Given the description of an element on the screen output the (x, y) to click on. 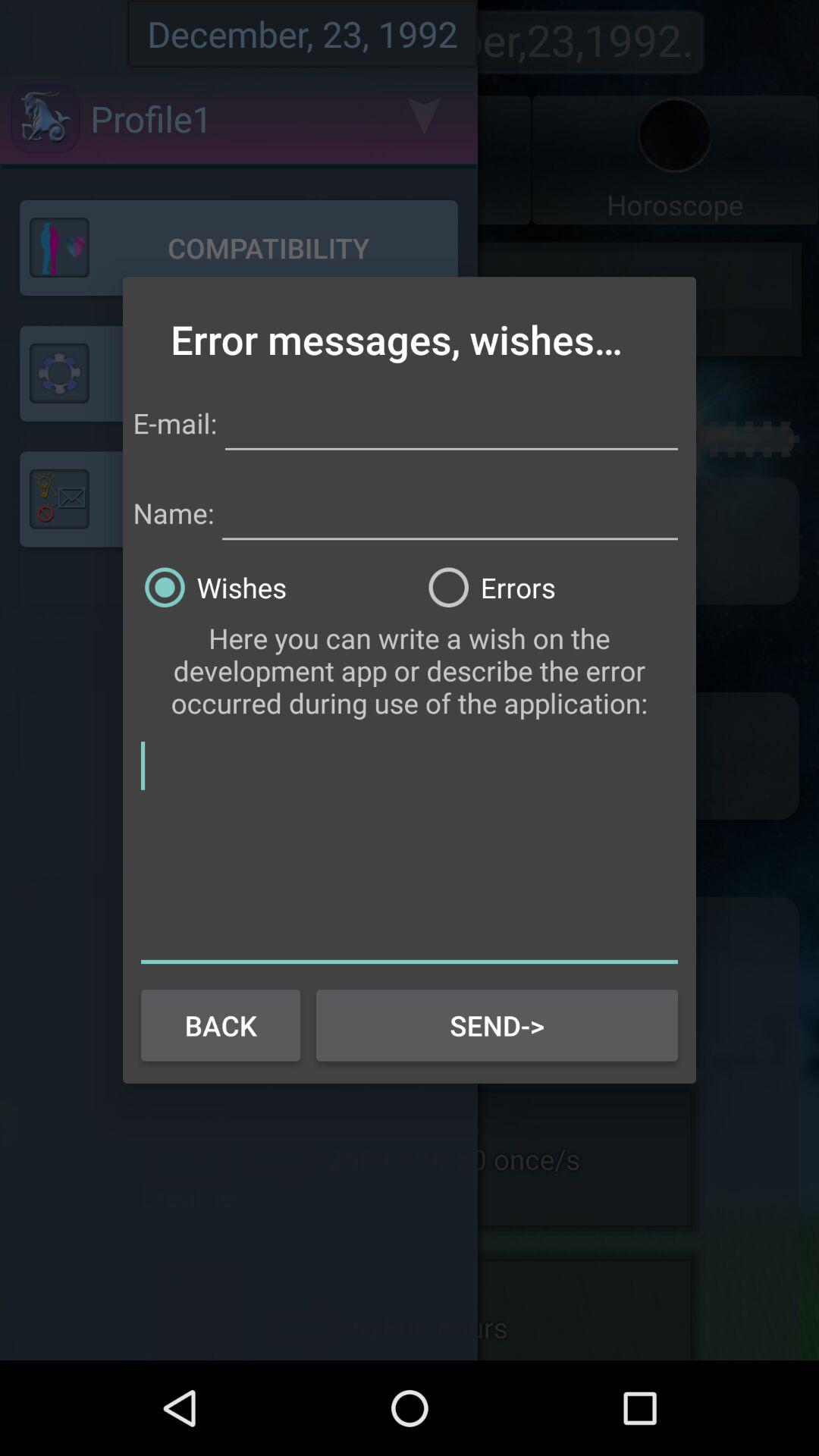
a blank space to put email (451, 420)
